Given the description of an element on the screen output the (x, y) to click on. 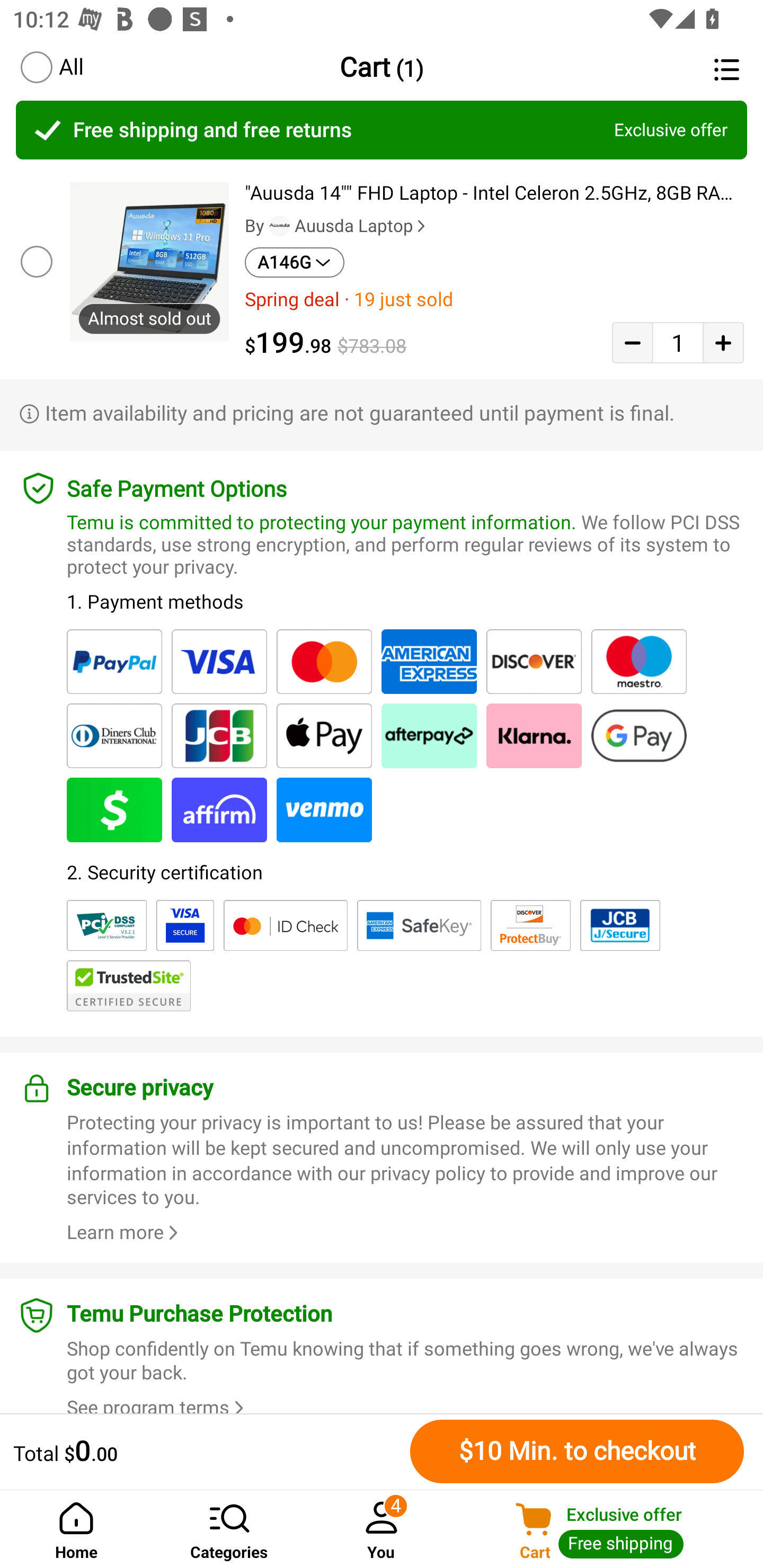
Select all tick button All (51, 67)
Free shipping and free returns Exclusive offer (381, 129)
Product checkbox uncheck (35, 260)
By Auusda Laptop (336, 226)
A146G (294, 262)
Spring deal · 19 just sold (493, 299)
Decrease quantity button (632, 342)
1 (677, 342)
Add quantity button (722, 342)
Learn more (125, 1232)
See program terms (157, 1404)
Total $0.00 (206, 1450)
Checkout $10 Min. to checkout (576, 1451)
Home (76, 1528)
Categories (228, 1528)
You 4 You (381, 1528)
Cart Cart Exclusive offer (610, 1528)
